Given the description of an element on the screen output the (x, y) to click on. 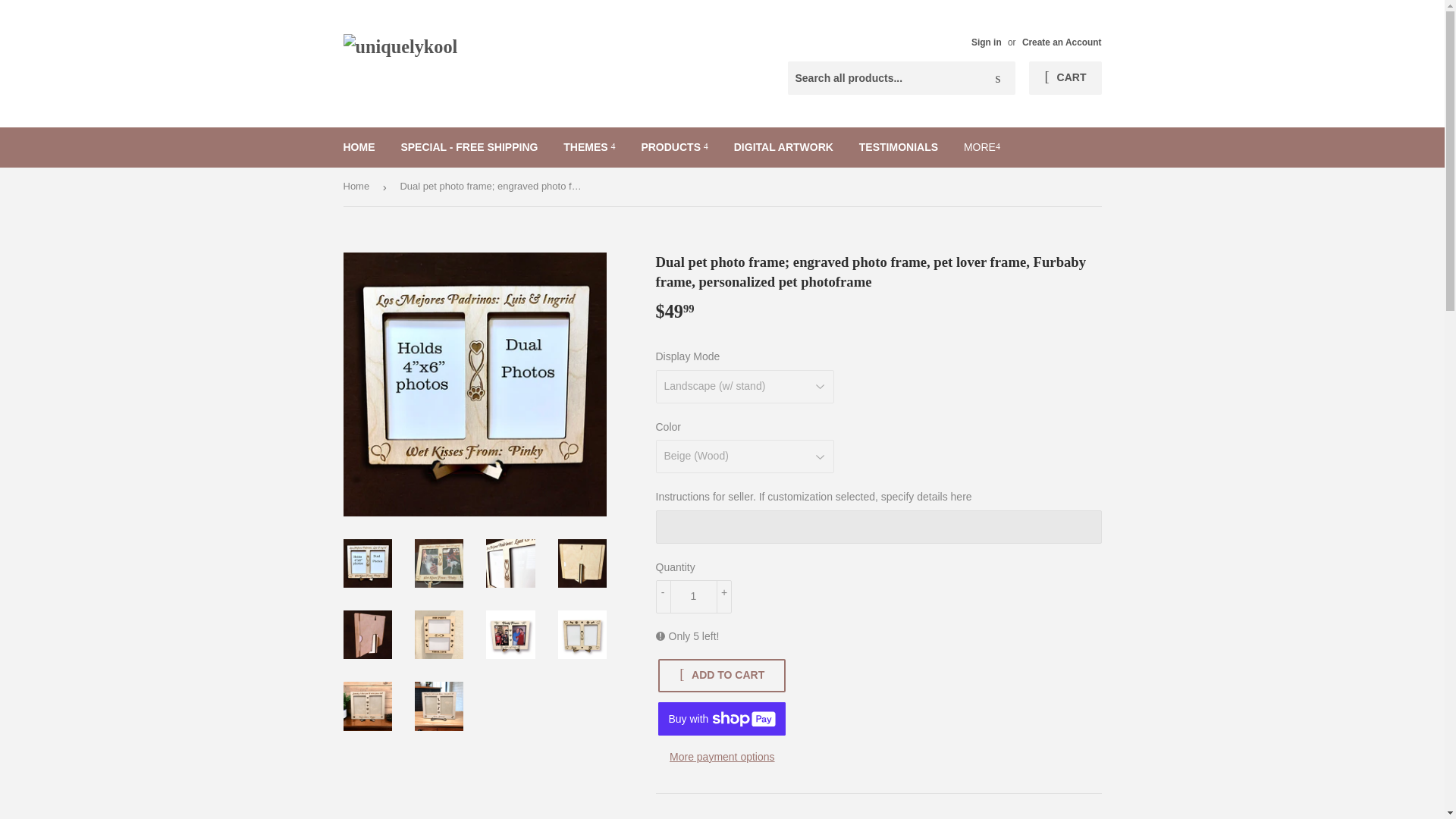
Back to the frontpage (358, 186)
CART (1064, 78)
SPECIAL - FREE SHIPPING (468, 147)
THEMES (588, 147)
1 (692, 596)
Create an Account (1062, 41)
Search (997, 79)
Sign in (986, 41)
HOME (359, 147)
